Given the description of an element on the screen output the (x, y) to click on. 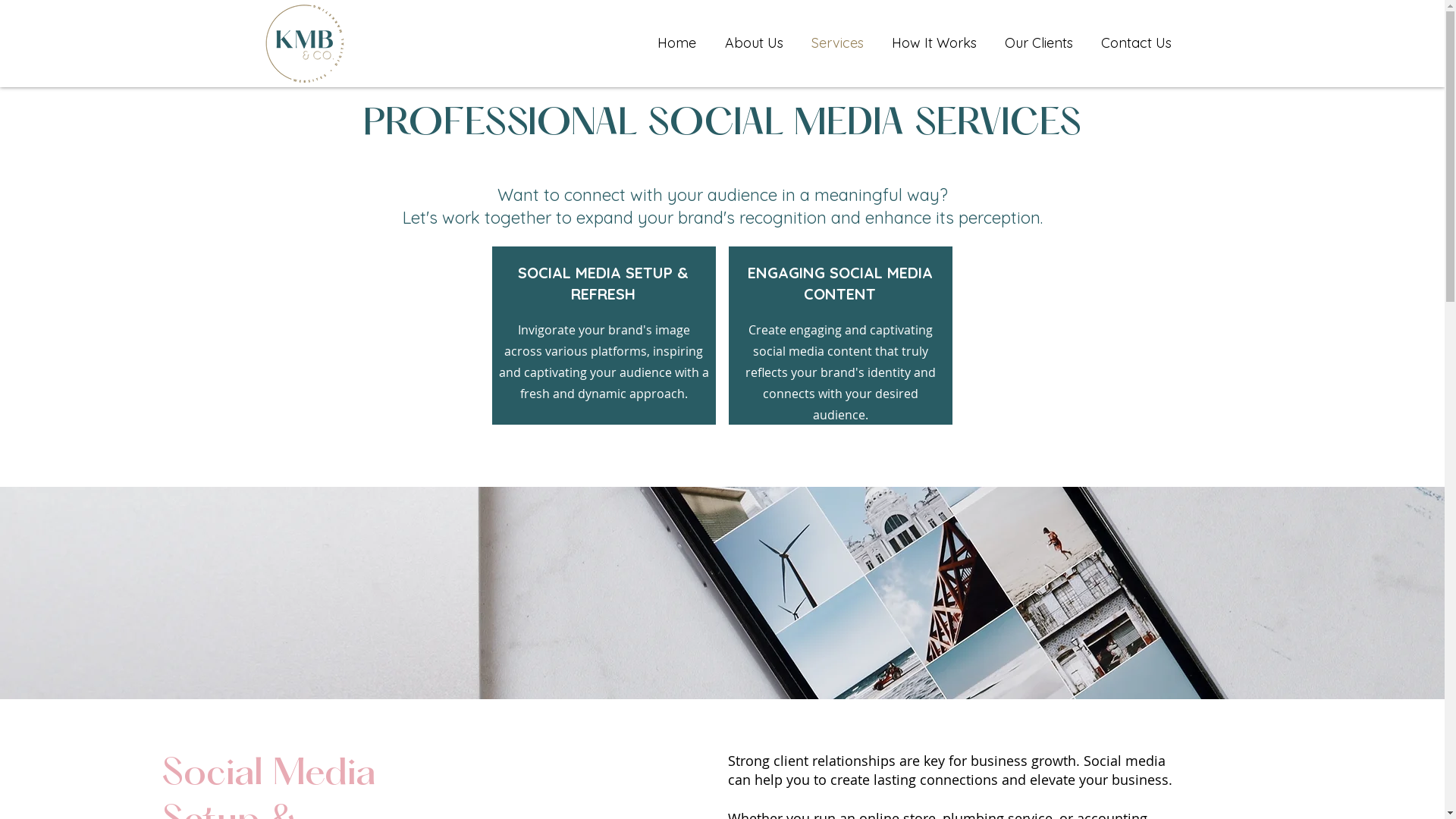
Our Clients Element type: text (1038, 43)
ENGAGING SOCIAL MEDIA CONTENT Element type: text (839, 283)
How It Works Element type: text (932, 43)
About Us Element type: text (752, 43)
SOCIAL MEDIA SETUP & REFRESH Element type: text (602, 283)
Contact Us Element type: text (1134, 43)
Services Element type: text (836, 43)
Home Element type: text (676, 43)
